Given the description of an element on the screen output the (x, y) to click on. 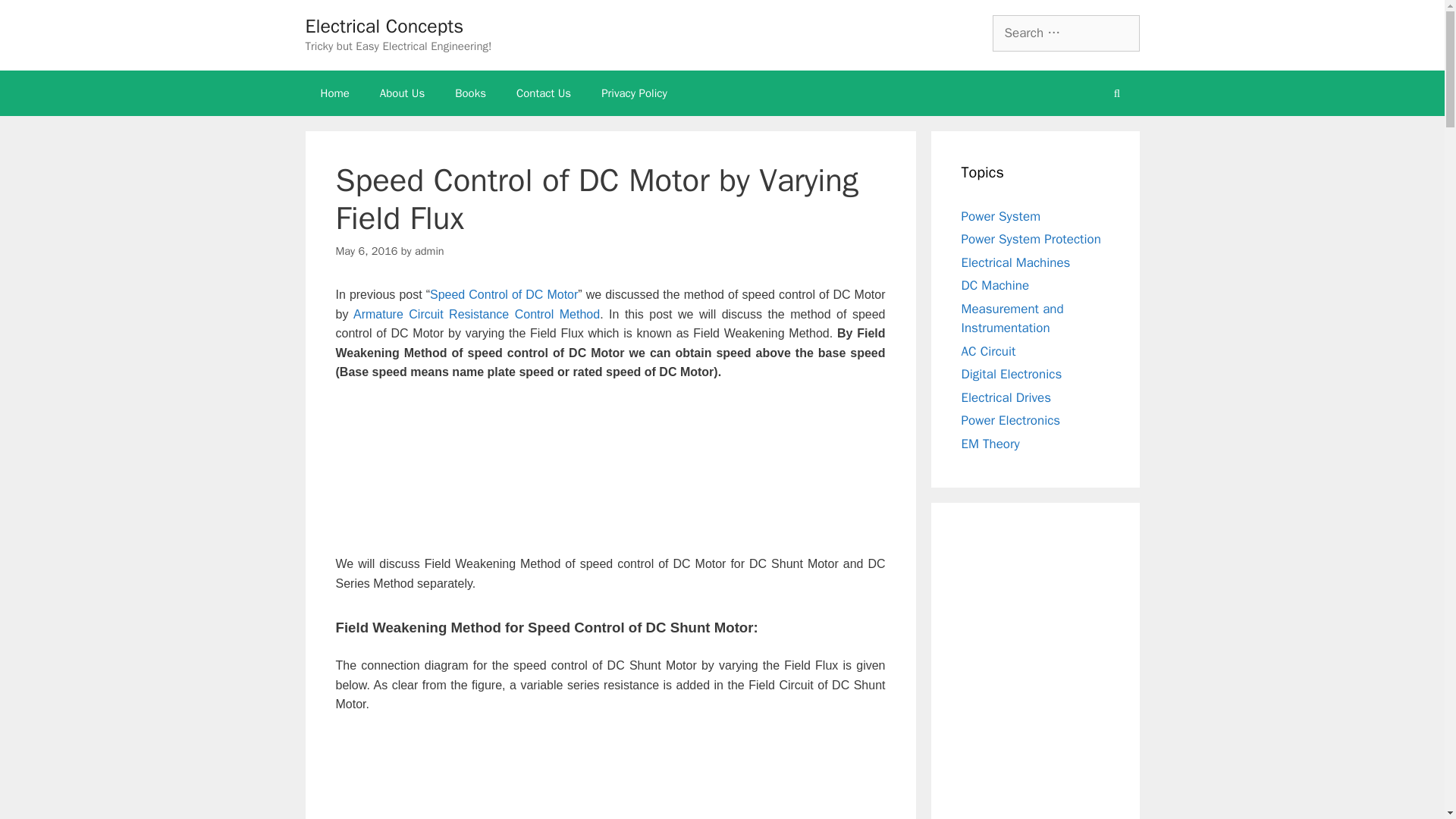
Power System (1000, 215)
Electrical Drives (1005, 397)
DC Machine (994, 285)
Armature Circuit Resistance Control Method (476, 314)
About Us (402, 92)
Power System Protection (1030, 238)
Electrical Concepts (383, 25)
Power Electronics (1010, 420)
Search for: (1064, 33)
AC Circuit (988, 350)
